Given the description of an element on the screen output the (x, y) to click on. 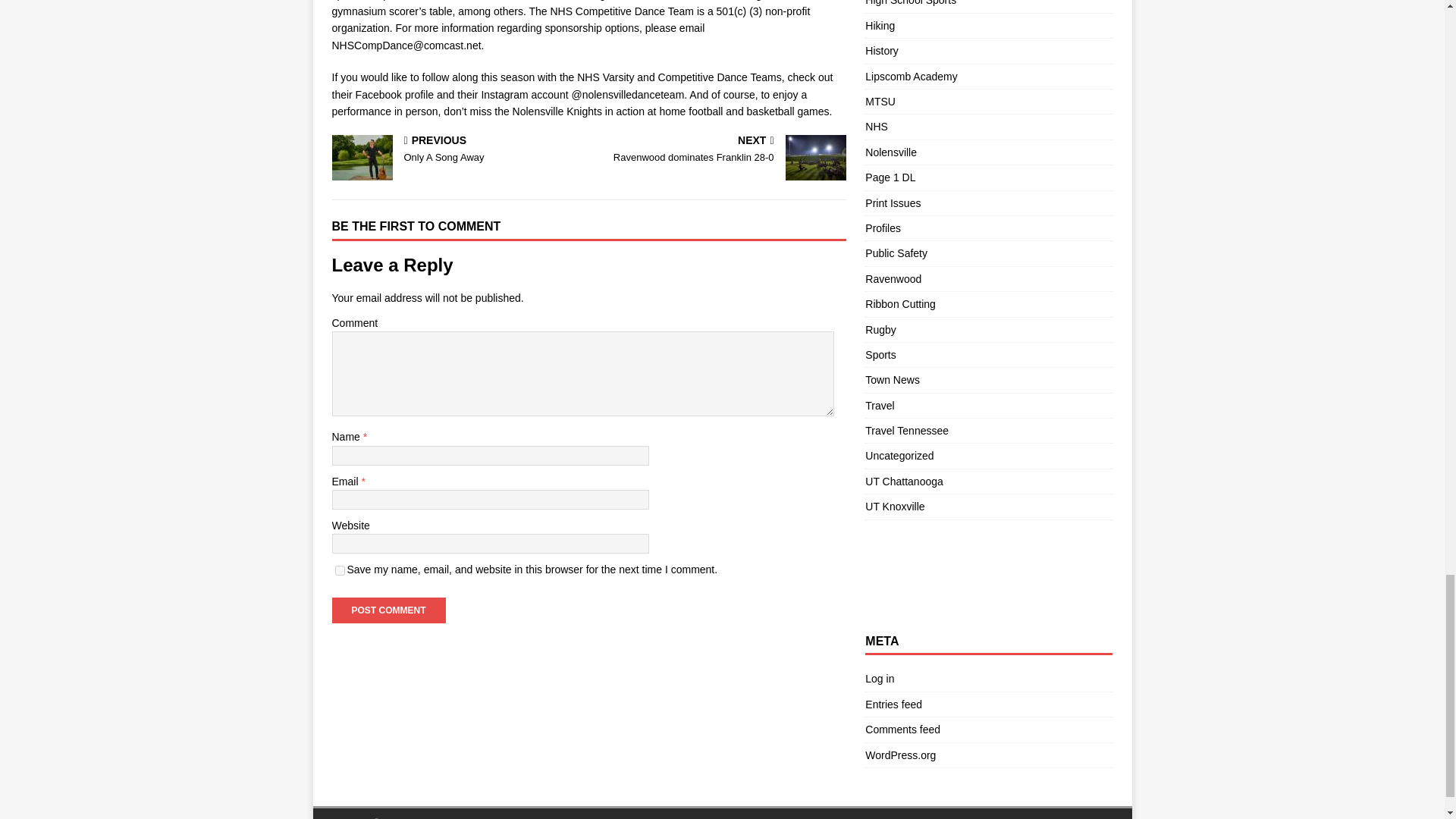
Post Comment (388, 610)
yes (339, 570)
Post Comment (457, 150)
Advertisement (720, 150)
